Given the description of an element on the screen output the (x, y) to click on. 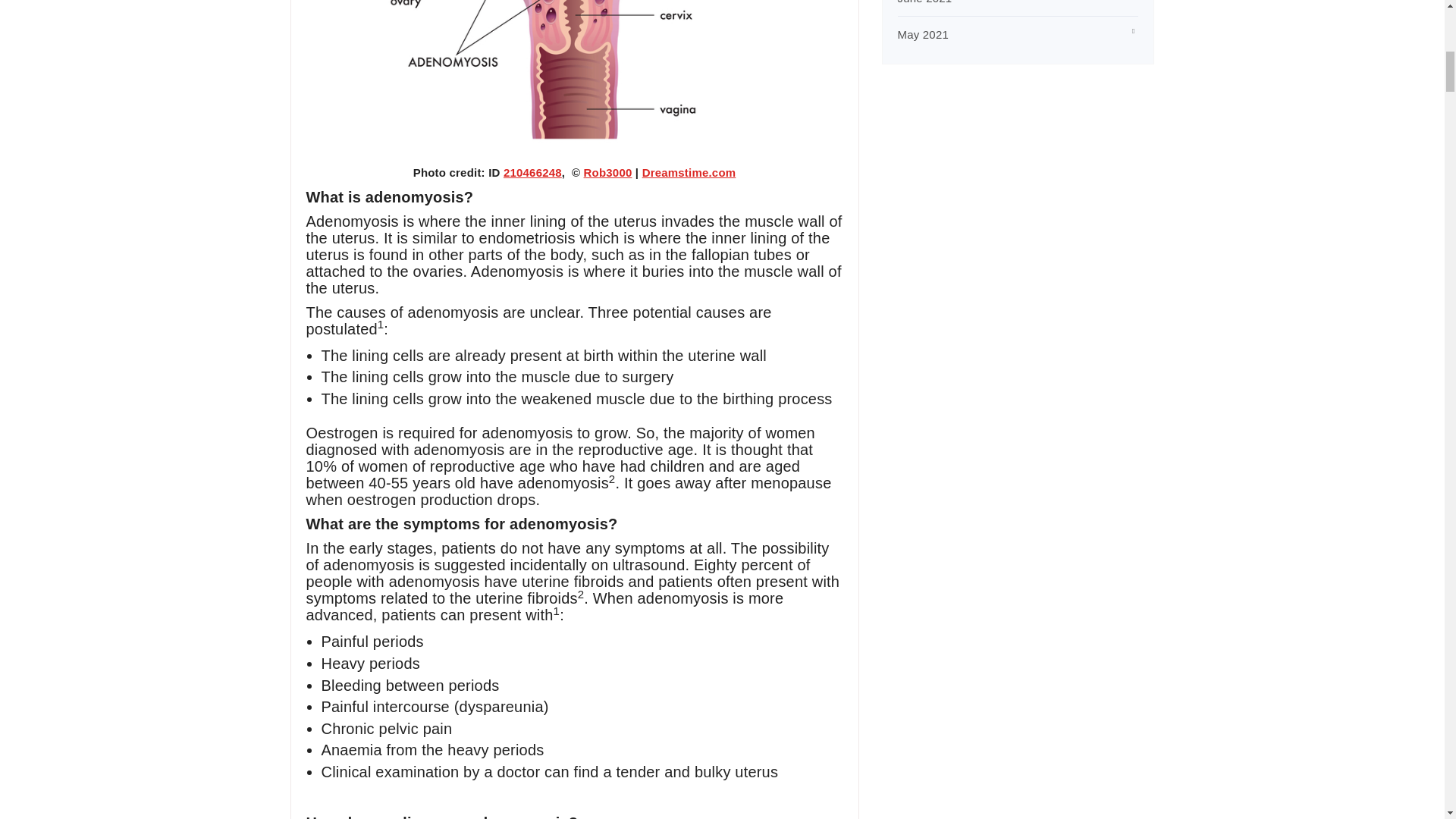
Dreamstime.com (689, 172)
Rob3000 (607, 172)
210466248 (532, 172)
